Given the description of an element on the screen output the (x, y) to click on. 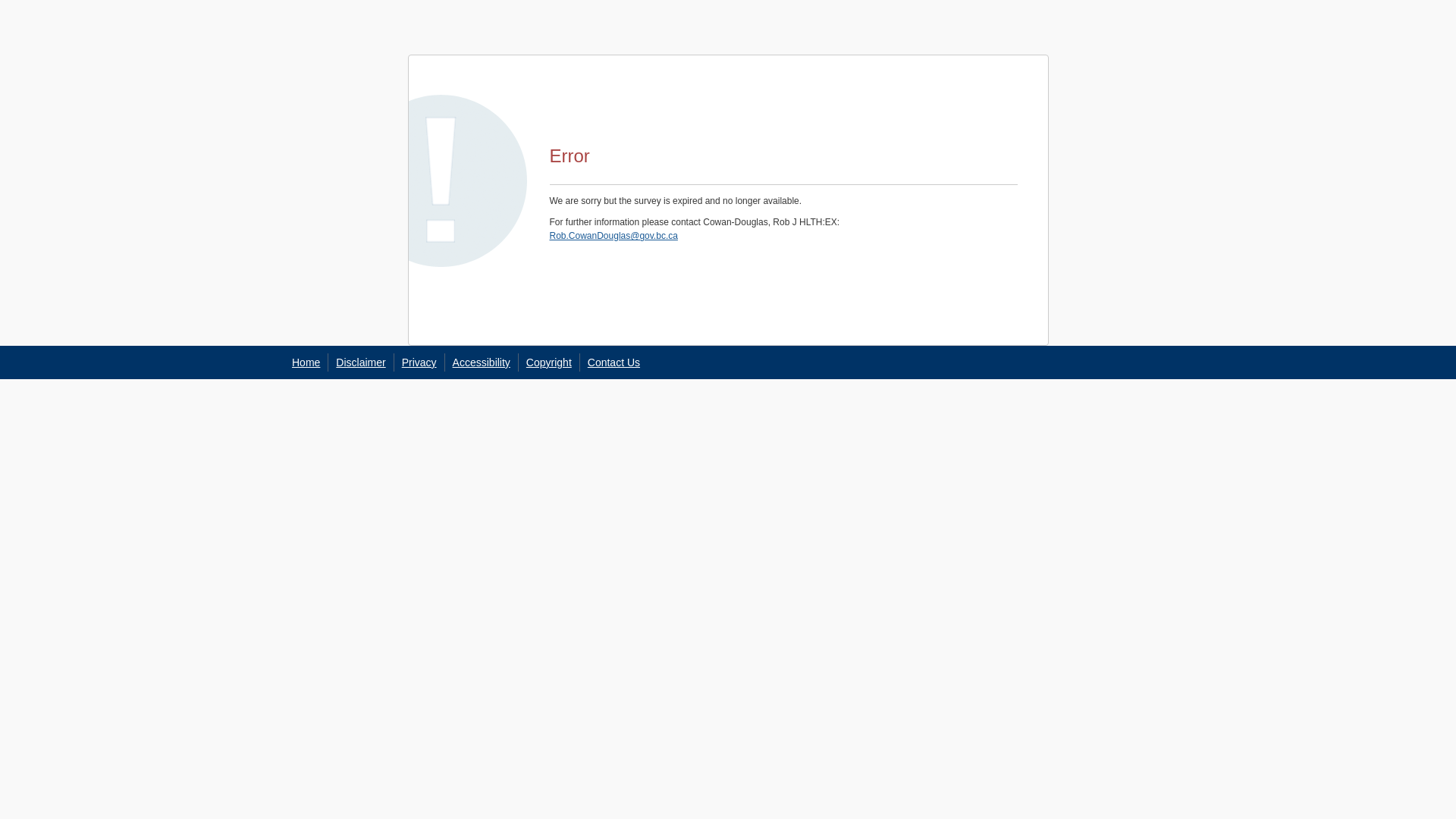
Rob.CowanDouglas@gov.bc.ca Element type: text (613, 235)
Disclaimer Element type: text (360, 362)
Privacy Element type: text (418, 362)
Copyright Element type: text (548, 362)
Home Element type: text (305, 362)
Contact Us Element type: text (613, 362)
Accessibility Element type: text (481, 362)
